Given the description of an element on the screen output the (x, y) to click on. 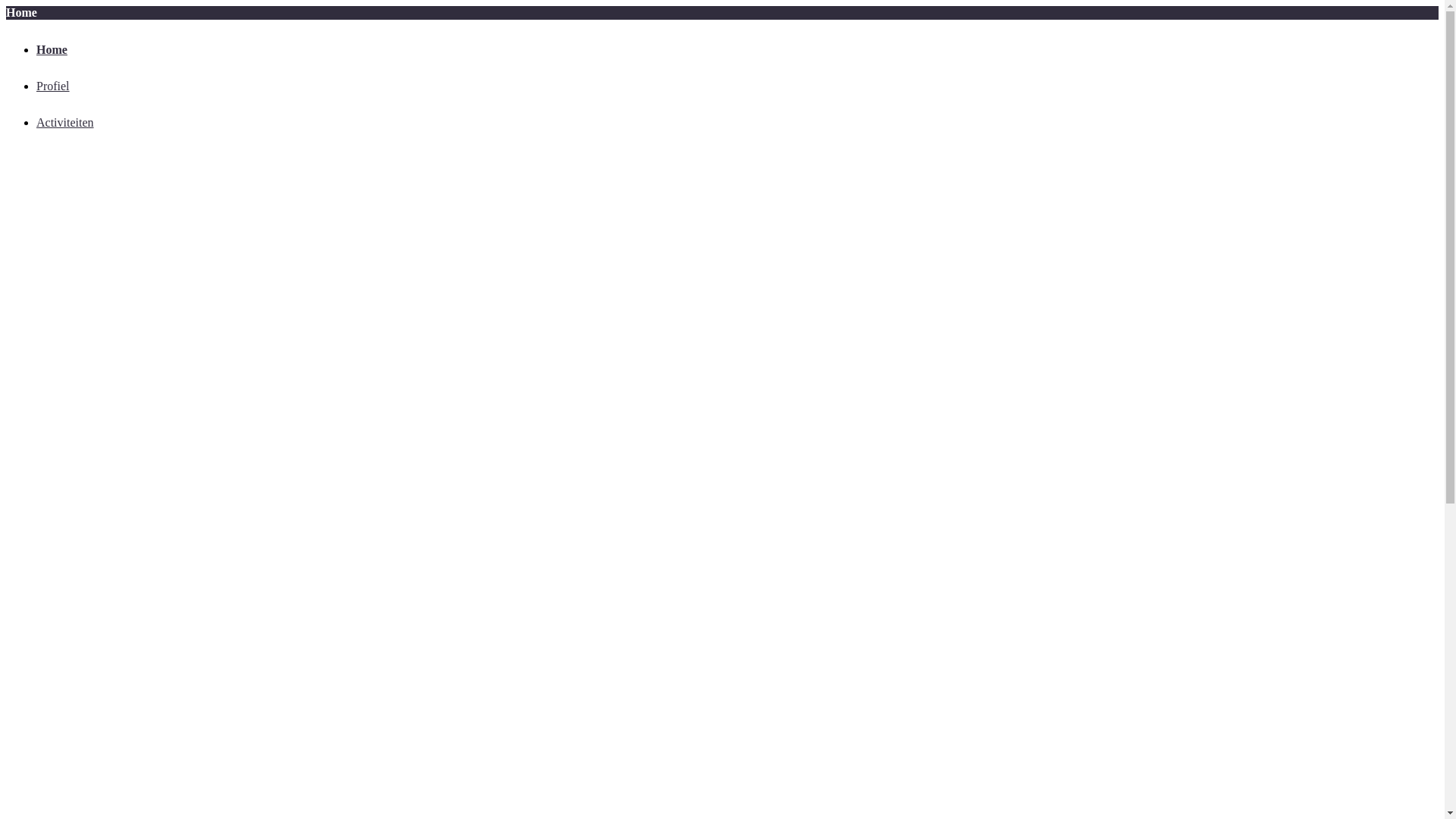
Home Element type: text (51, 49)
Profiel Element type: text (52, 85)
Activiteiten Element type: text (65, 122)
